Given the description of an element on the screen output the (x, y) to click on. 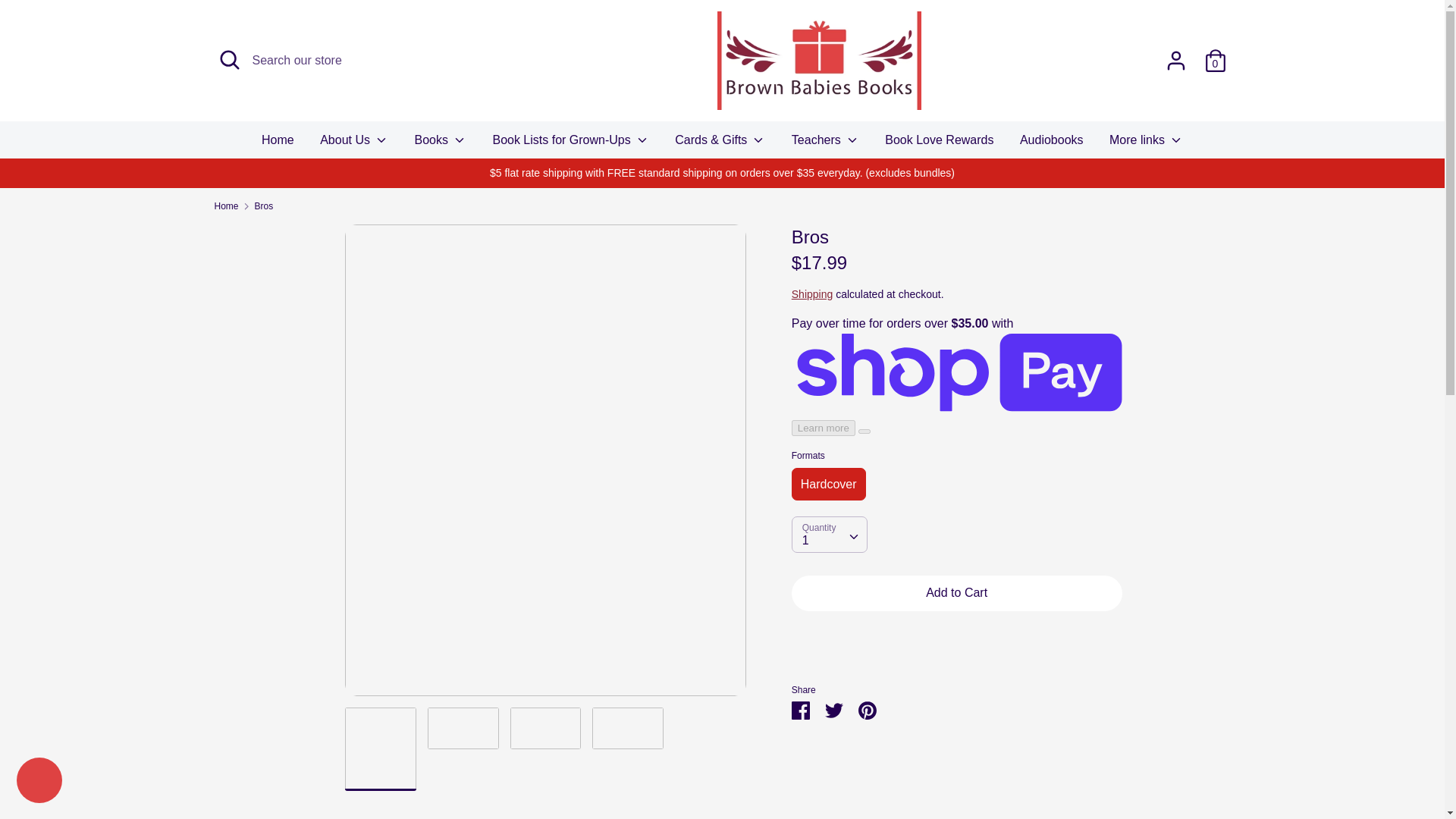
Shopify online store chat (38, 781)
Diners Club (944, 769)
0 (1214, 54)
American Express (877, 769)
Meta Pay (1011, 769)
1 (829, 533)
Discover (977, 769)
PayPal - The safer, easier way to pay online! (1082, 658)
Apple Pay (910, 769)
